Given the description of an element on the screen output the (x, y) to click on. 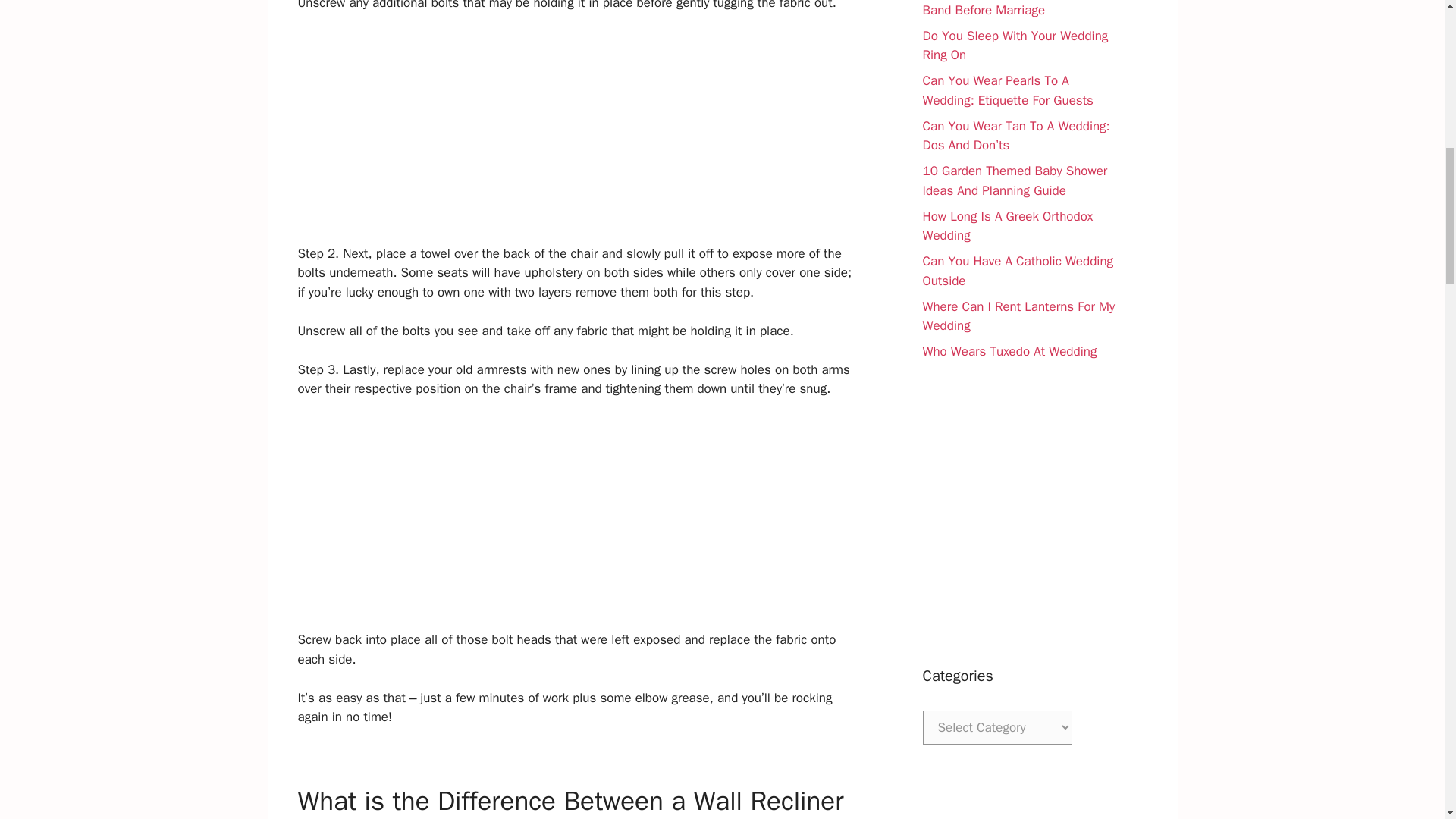
Advertisement (579, 137)
Advertisement (579, 523)
Advertisement (1019, 513)
Scroll back to top (1406, 720)
